Given the description of an element on the screen output the (x, y) to click on. 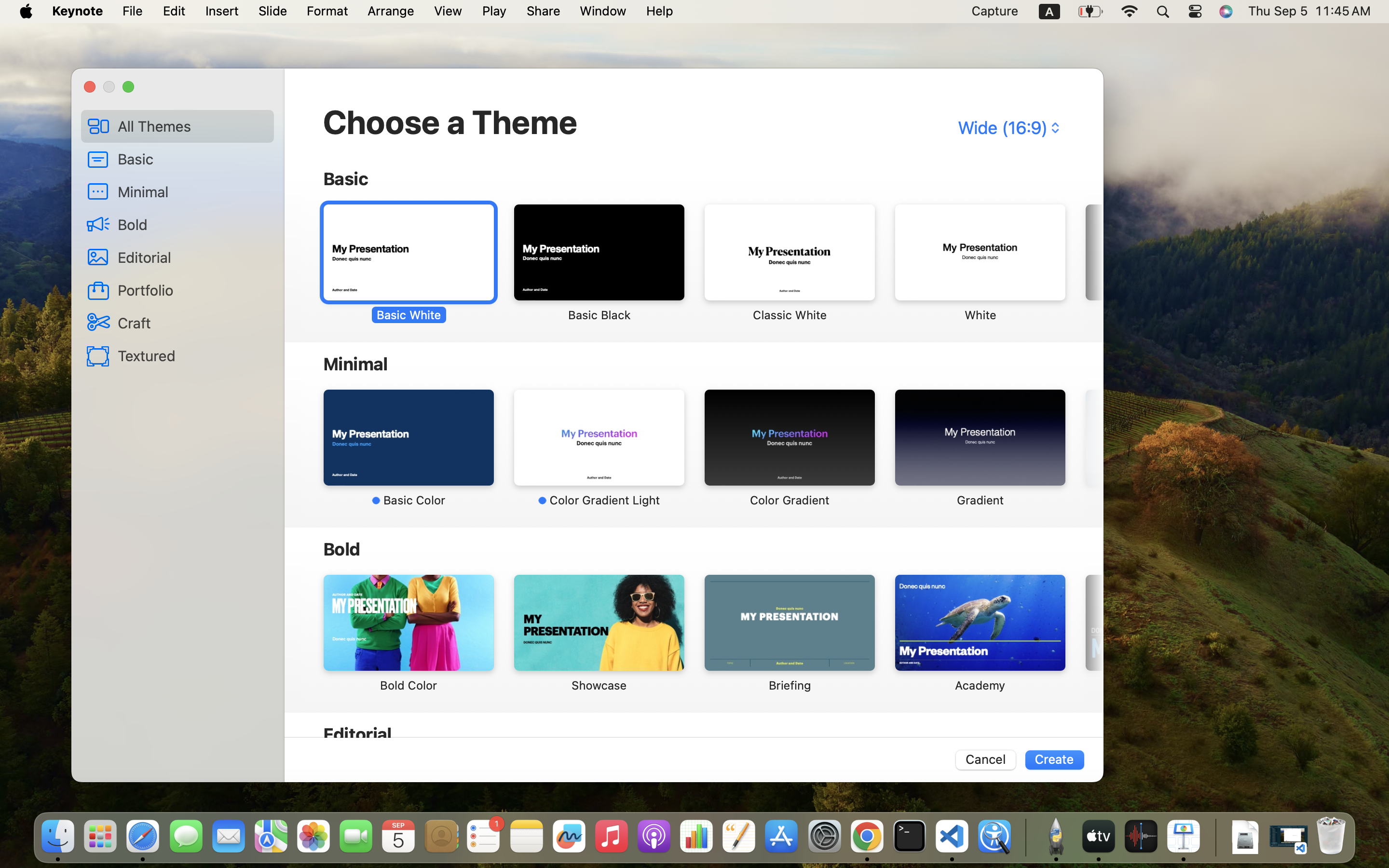
Wide (16:9) Element type: AXPopUpButton (1007, 127)
